Given the description of an element on the screen output the (x, y) to click on. 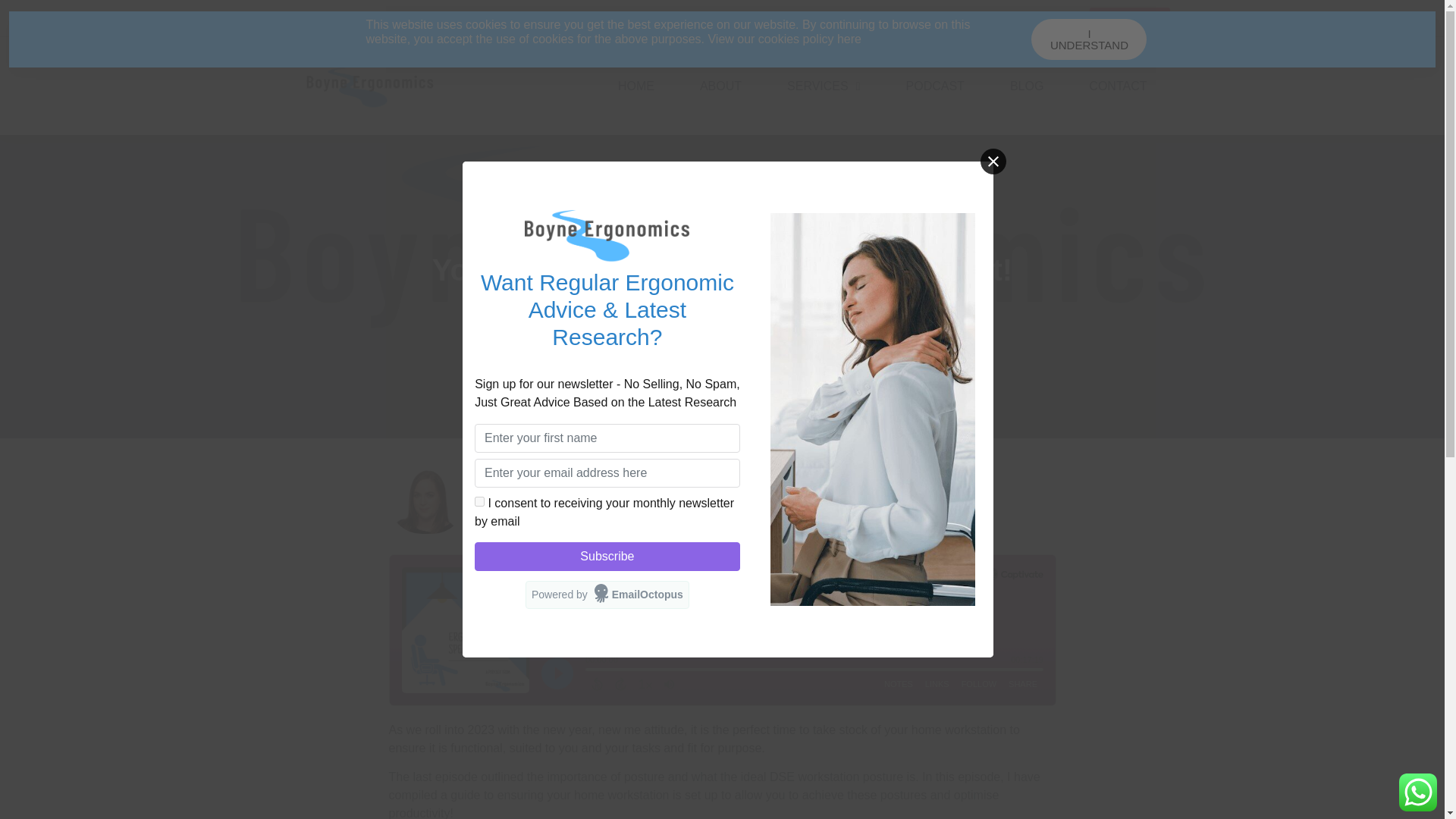
HOME (636, 86)
CONTACT (1117, 86)
PODCAST (935, 86)
GET IN TOUCH (1129, 17)
January 18, 2023 (722, 309)
BLOG (1026, 86)
on (479, 501)
SERVICES (823, 86)
086 4110654 (312, 17)
Subscribe (606, 556)
ABOUT (720, 86)
